Given the description of an element on the screen output the (x, y) to click on. 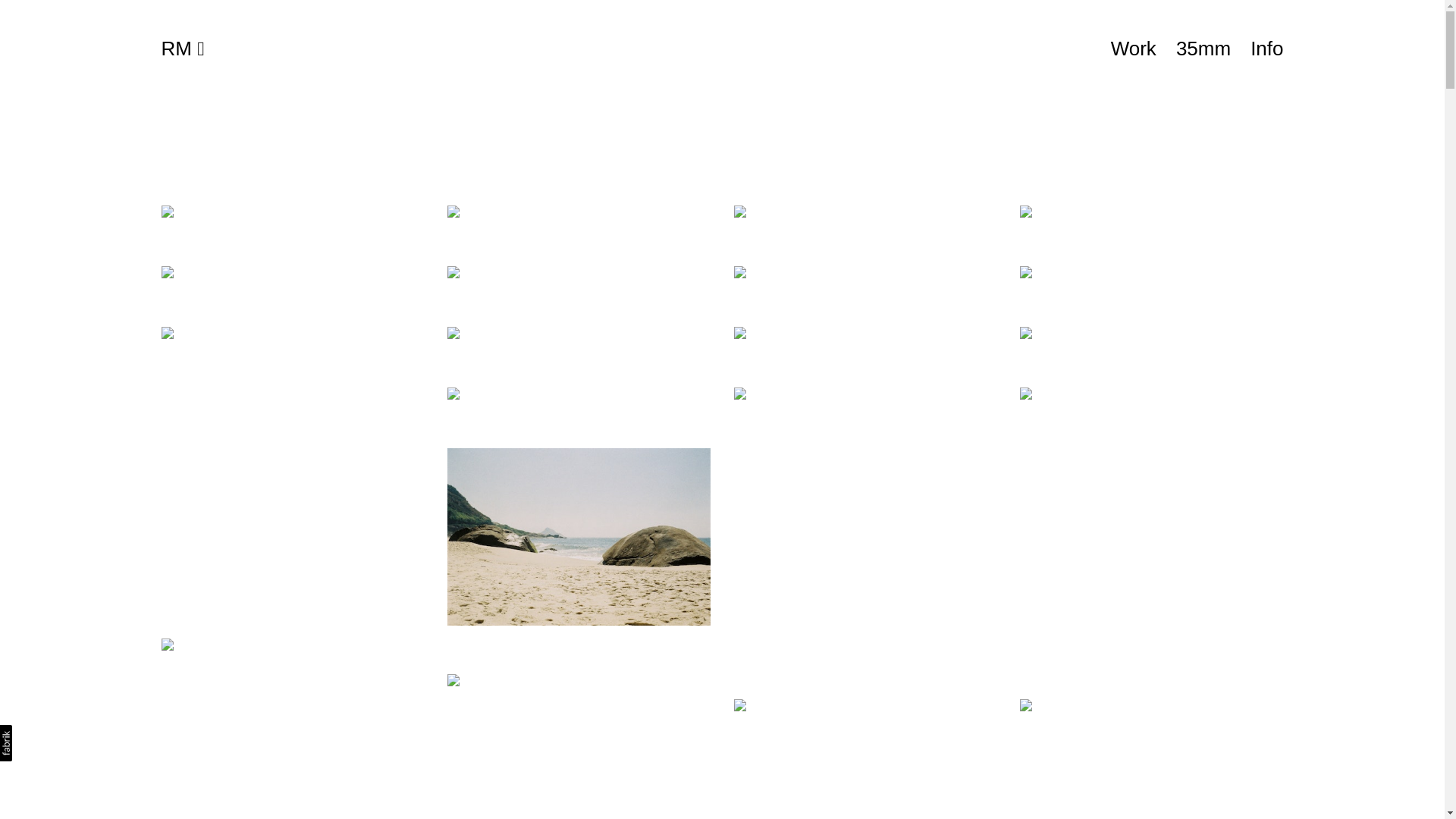
Info Element type: text (1266, 48)
35mm Element type: text (1203, 48)
Created with Fabrik Element type: hover (6, 742)
Work Element type: text (1133, 48)
